Given the description of an element on the screen output the (x, y) to click on. 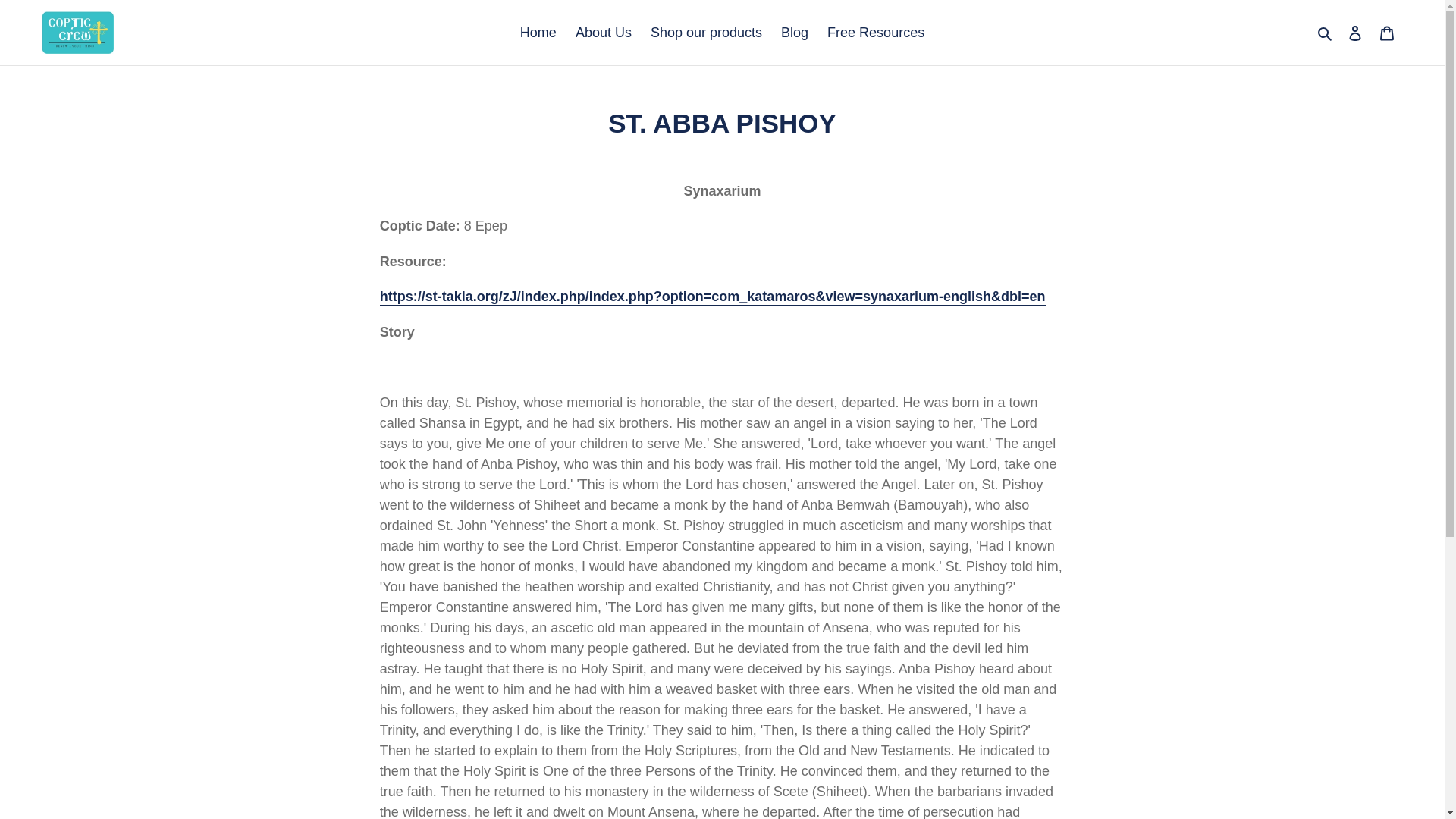
Cart (1387, 32)
Shop our products (706, 32)
Search (1326, 32)
About Us (603, 32)
Home (538, 32)
Free Resources (875, 32)
Log in (1355, 32)
Blog (794, 32)
